Given the description of an element on the screen output the (x, y) to click on. 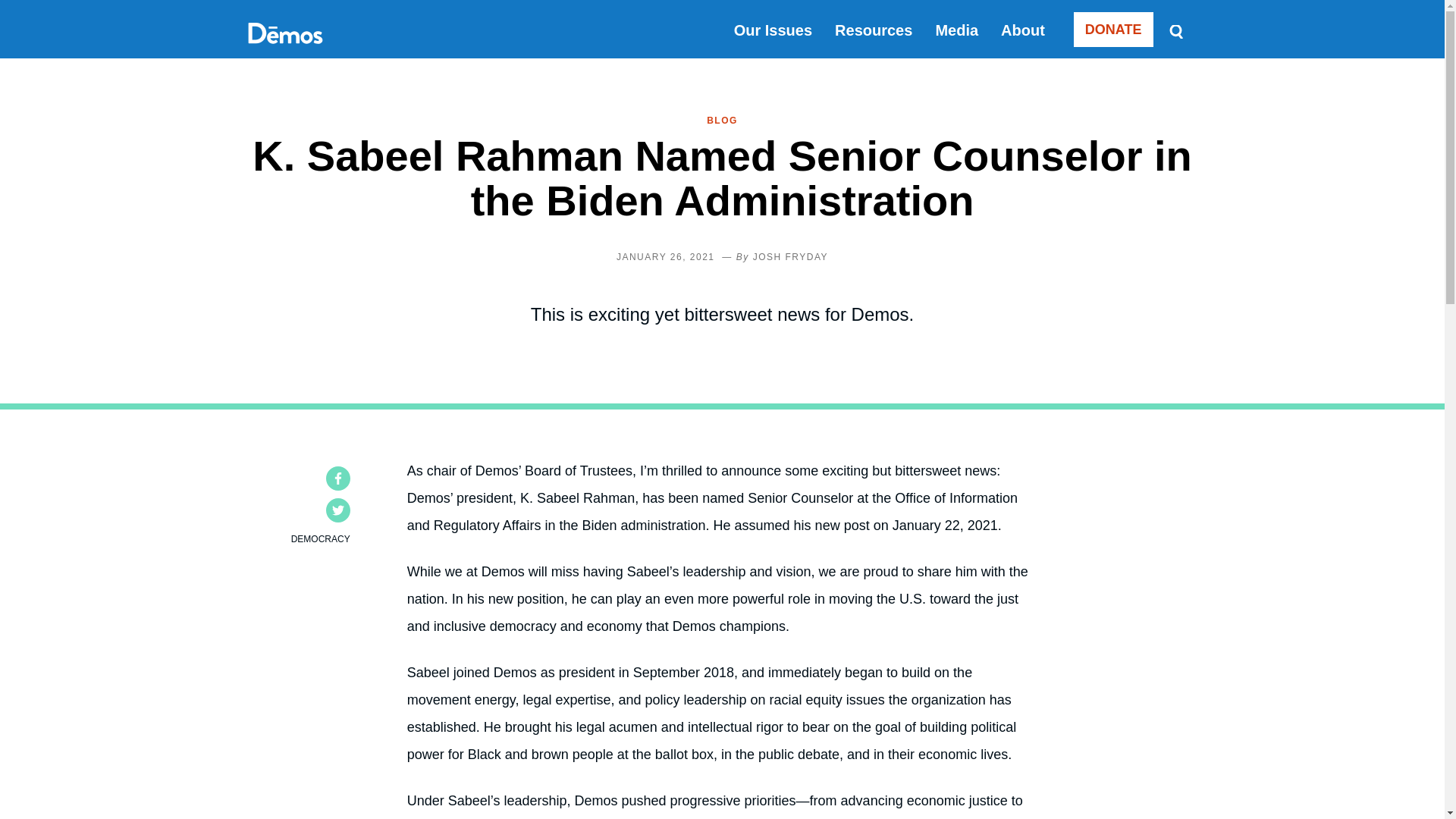
JOSH FRYDAY (790, 256)
DONATE (1113, 29)
Home (284, 50)
About (1023, 30)
Our Issues (772, 30)
Media (956, 30)
Search (1176, 30)
Search (1176, 30)
DEMOCRACY (320, 538)
